Given the description of an element on the screen output the (x, y) to click on. 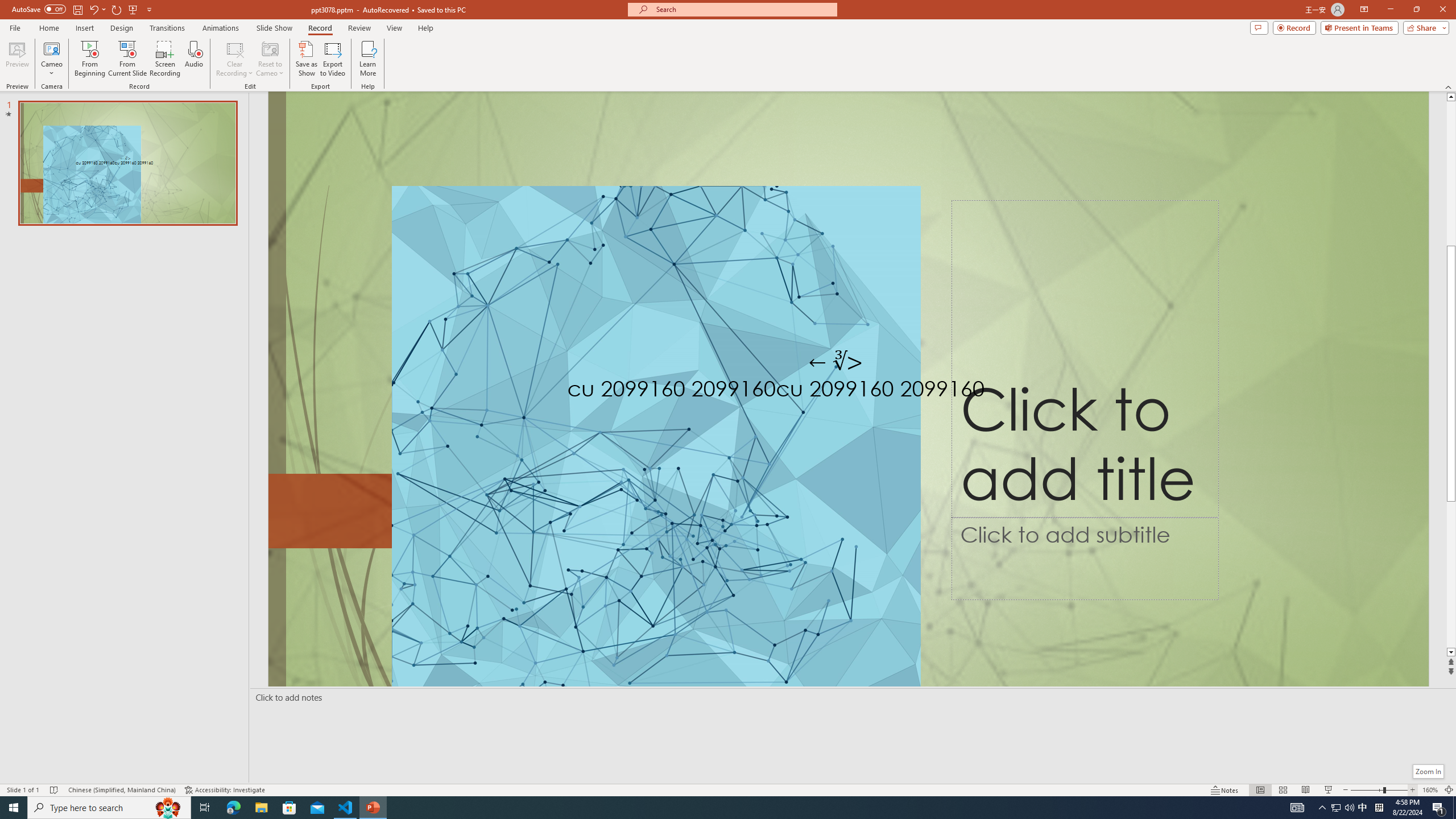
From Current Slide... (127, 58)
Clear Recording (234, 58)
